Given the description of an element on the screen output the (x, y) to click on. 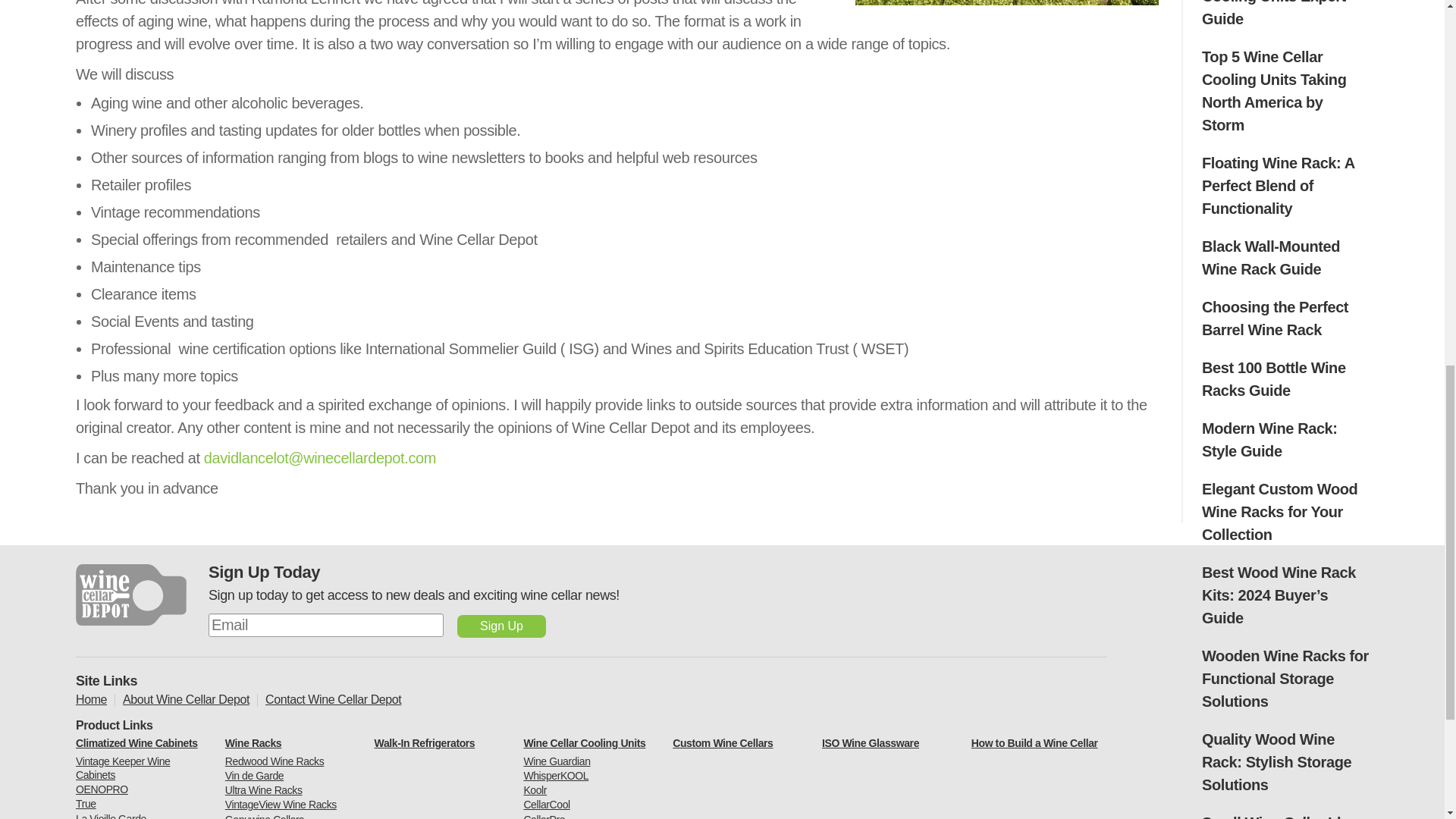
Quality Wood Wine Rack: Stylish Storage Solutions (1276, 762)
Choosing the Perfect Barrel Wine Rack (1275, 318)
WhisperKOOL Wine Cooling Units Expert Guide (1273, 13)
WhisperKOOL Wine Cooling Units Expert Guide (1273, 13)
Floating Wine Rack: A Perfect Blend of Functionality (1278, 185)
Best 100 Bottle Wine Racks Guide (1273, 378)
Modern Wine Rack: Style Guide (1270, 439)
Black Wall-Mounted Wine Rack Guide (1270, 257)
Wooden Wine Racks for Functional Storage Solutions (1285, 678)
